Given the description of an element on the screen output the (x, y) to click on. 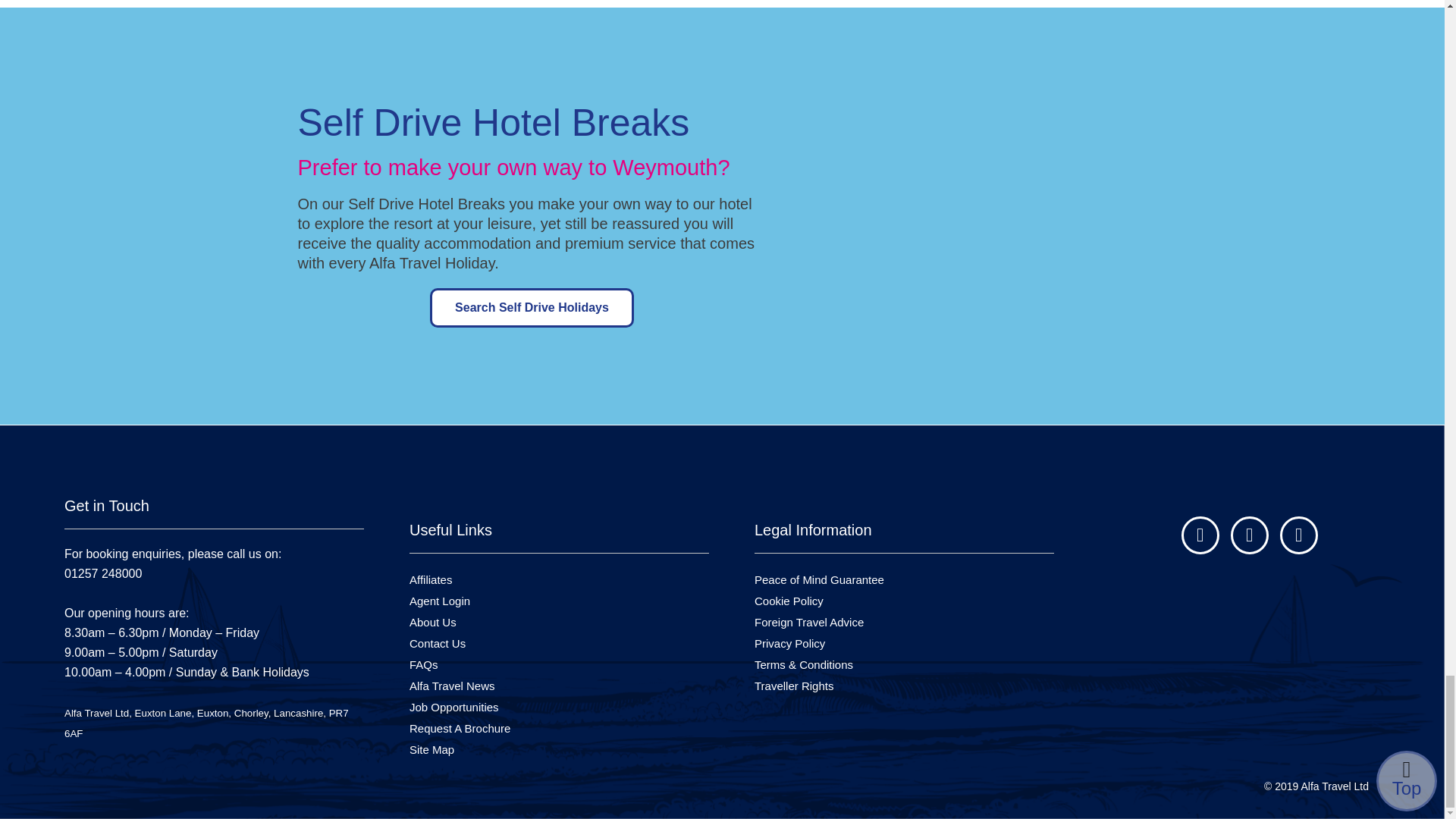
About Us (433, 621)
Search Self Drive Holidays (531, 307)
Request A Brochure (460, 727)
Peace of Mind Guarantee (818, 579)
01257 248000 (172, 583)
Agent Login (439, 600)
Alfa Travel News (452, 685)
Contact Us (437, 643)
Affiliates (430, 579)
Site Map (431, 748)
